Given the description of an element on the screen output the (x, y) to click on. 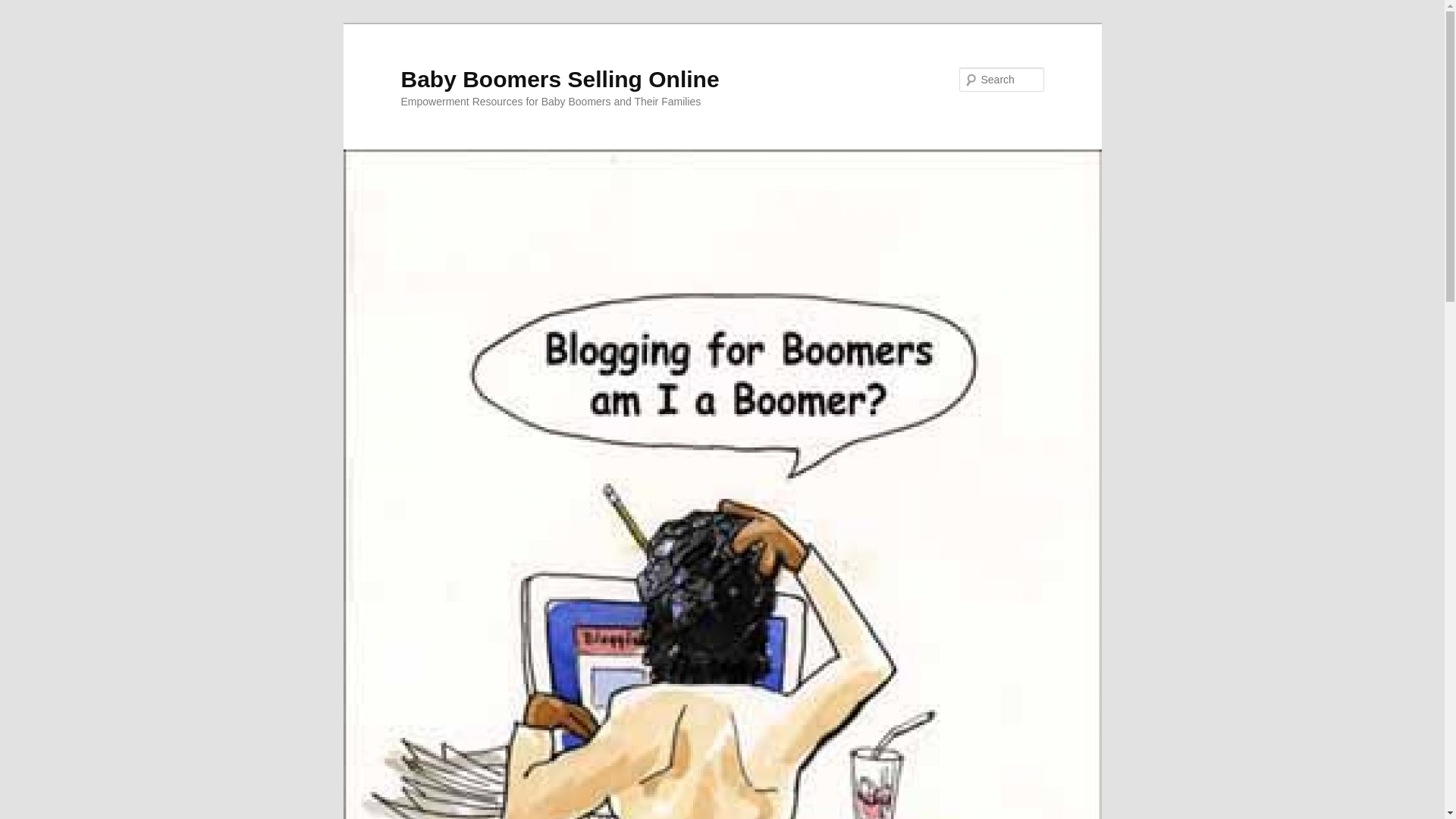
Search (24, 8)
Baby Boomers Selling Online (559, 78)
